Given the description of an element on the screen output the (x, y) to click on. 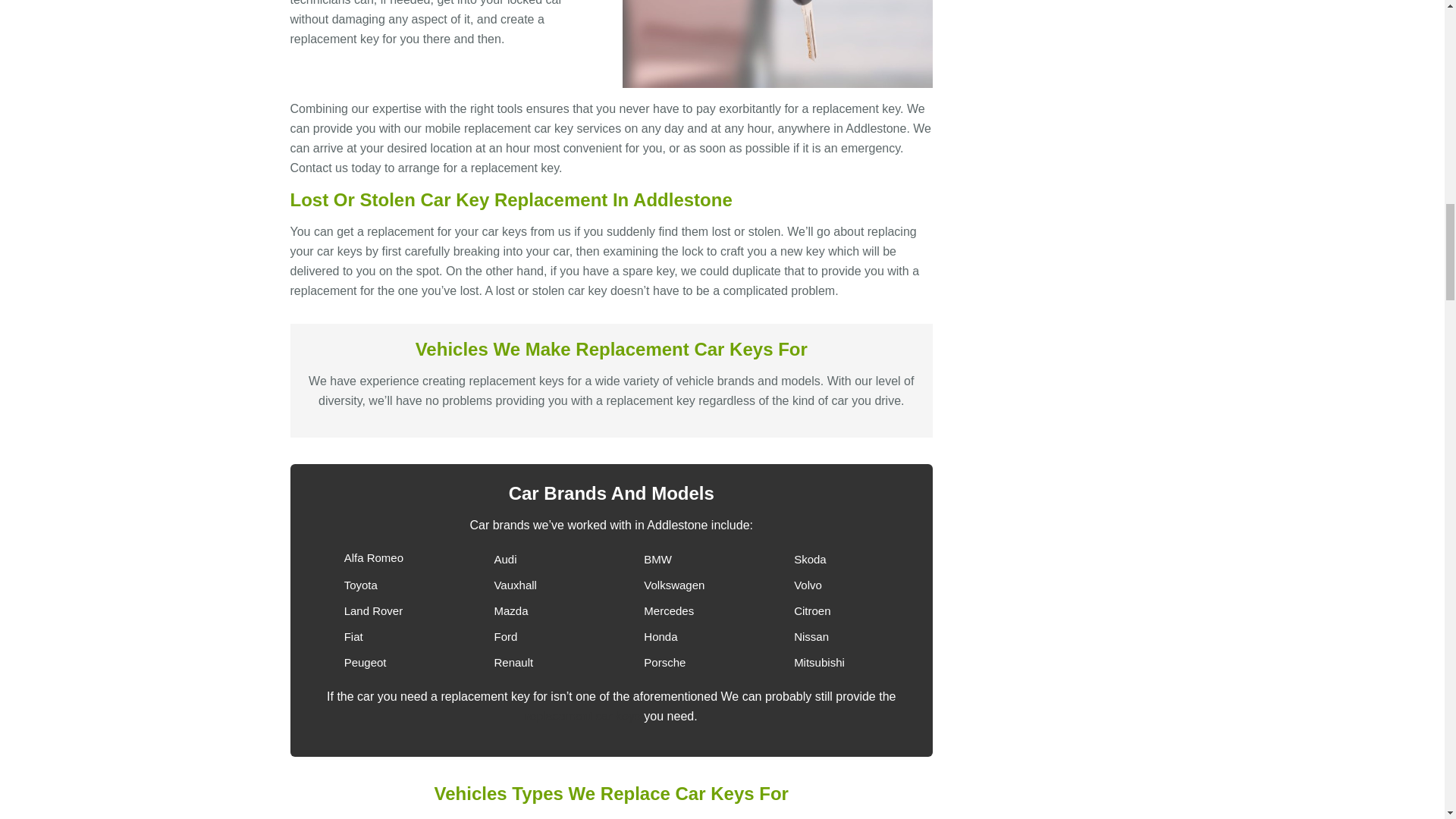
replacement car keys (582, 716)
